Given the description of an element on the screen output the (x, y) to click on. 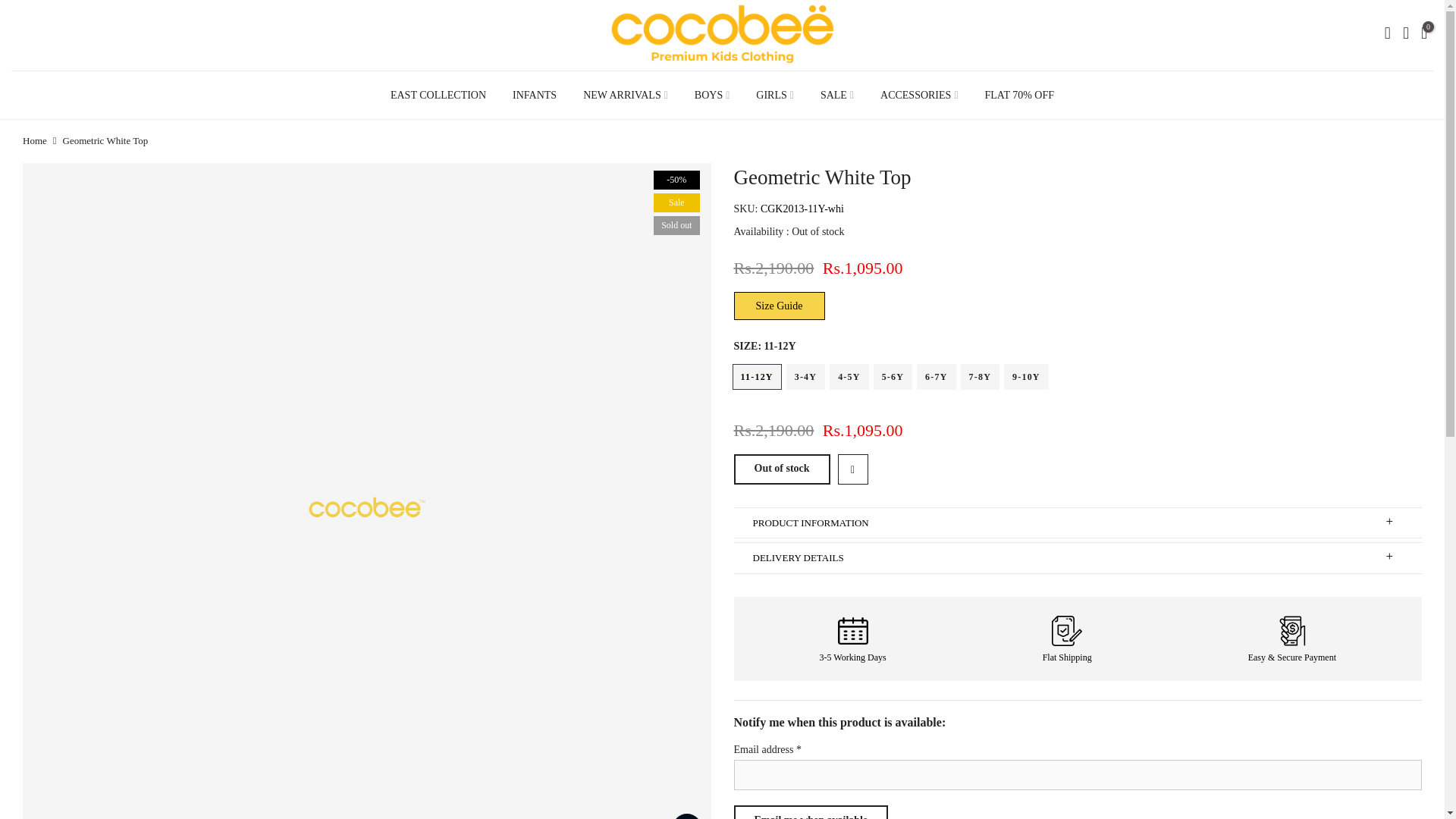
Email me when available (810, 812)
BOYS (711, 94)
EAST COLLECTION (438, 94)
Home (34, 141)
Size Guide (779, 305)
ACCESSORIES (919, 94)
NEW ARRIVALS (625, 94)
INFANTS (534, 94)
Email me when available (810, 812)
SALE (836, 94)
